Given the description of an element on the screen output the (x, y) to click on. 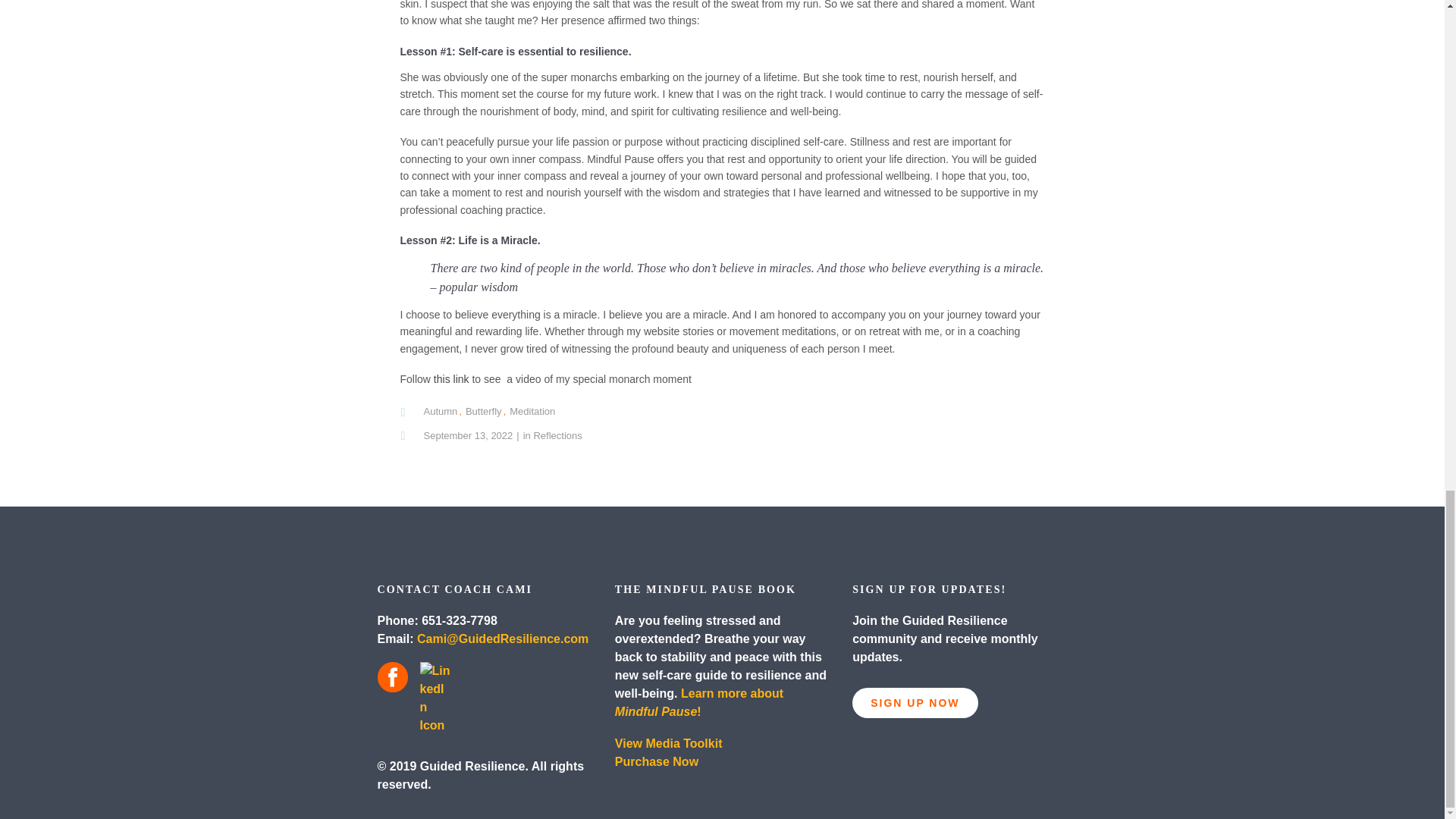
Butterfly (483, 410)
View Media Toolkit (668, 743)
Reflections (556, 435)
SIGN UP NOW (913, 702)
Autumn (440, 410)
this link (450, 378)
Learn more about Mindful Pause! (698, 702)
Purchase Now (656, 761)
Meditation (531, 410)
